Given the description of an element on the screen output the (x, y) to click on. 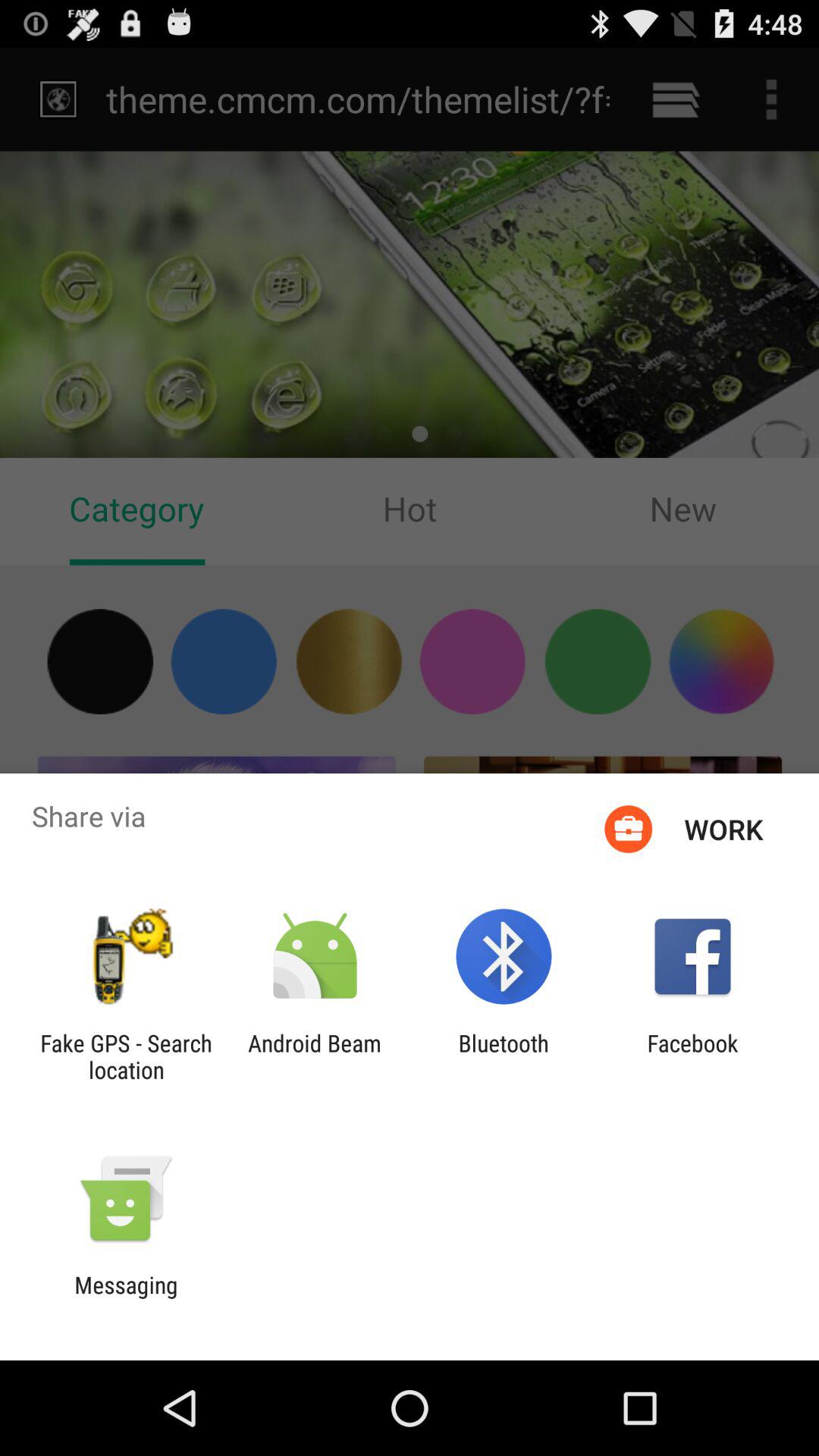
open item to the right of the android beam icon (503, 1056)
